Given the description of an element on the screen output the (x, y) to click on. 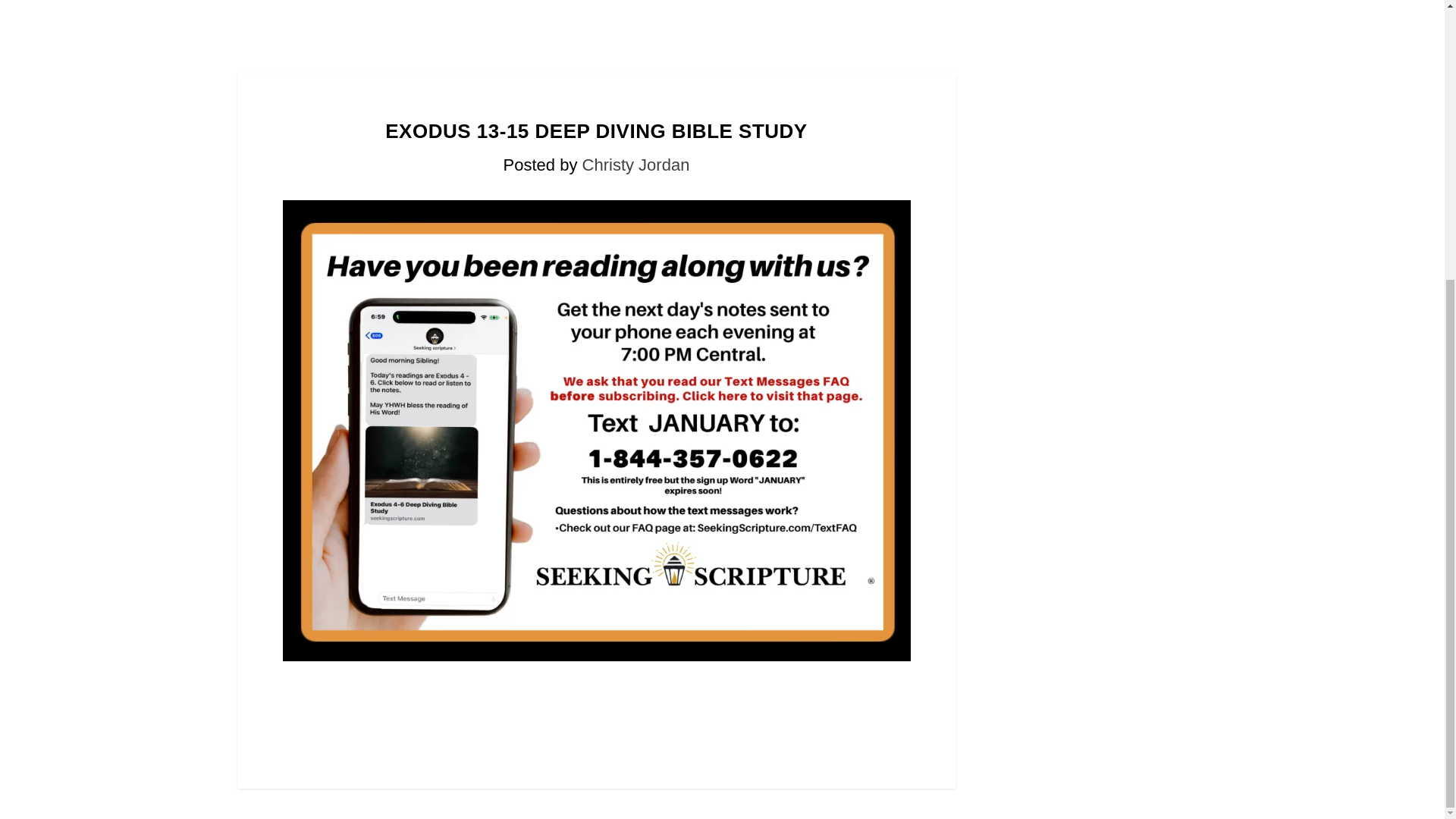
Posts by Christy Jordan (636, 164)
